Given the description of an element on the screen output the (x, y) to click on. 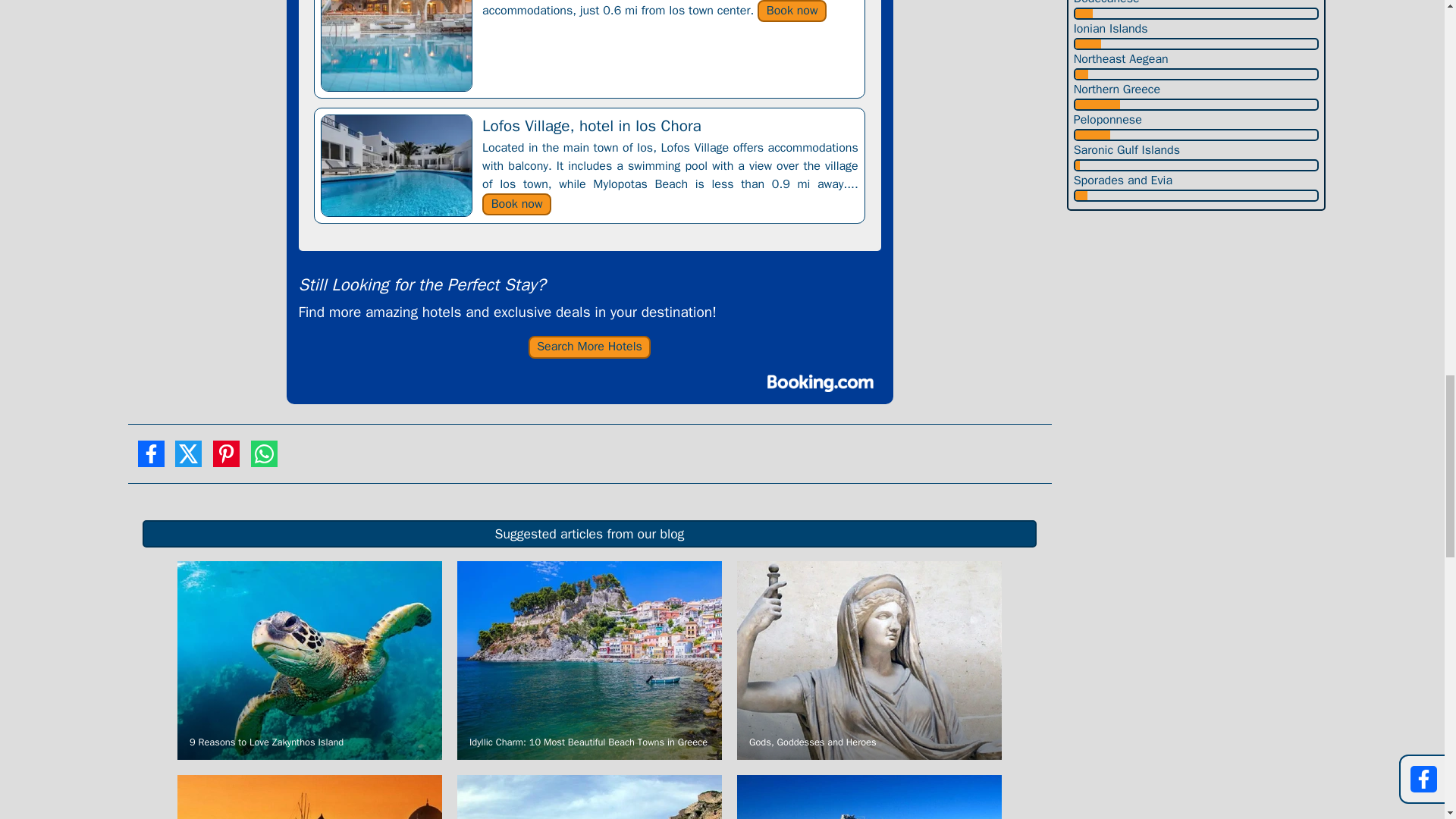
Idyllic Charm: 10 Most Beautiful Beach Towns in Greece (589, 660)
Pinterest (226, 459)
10 Amazing Getaways for Autumn in Greece (309, 793)
The 9 Most Beautiful Castles in Greece (589, 793)
Idyllic Charm: 10 Most Beautiful Beach Towns in Greece (589, 660)
WhatsApp (264, 459)
Gods, Goddesses and Heroes (869, 660)
9 Reasons to Love Zakynthos Island (309, 660)
7 Best Greek Islands for Couples to Visit (869, 793)
Facebook (150, 459)
Twitter (188, 459)
Gods, Goddesses and Heroes (869, 660)
9 Reasons to Love Zakynthos Island (309, 660)
The 9 Most Beautiful Castles in Greece (589, 793)
7 Best Greek Islands for Couples to Visit (869, 793)
